Given the description of an element on the screen output the (x, y) to click on. 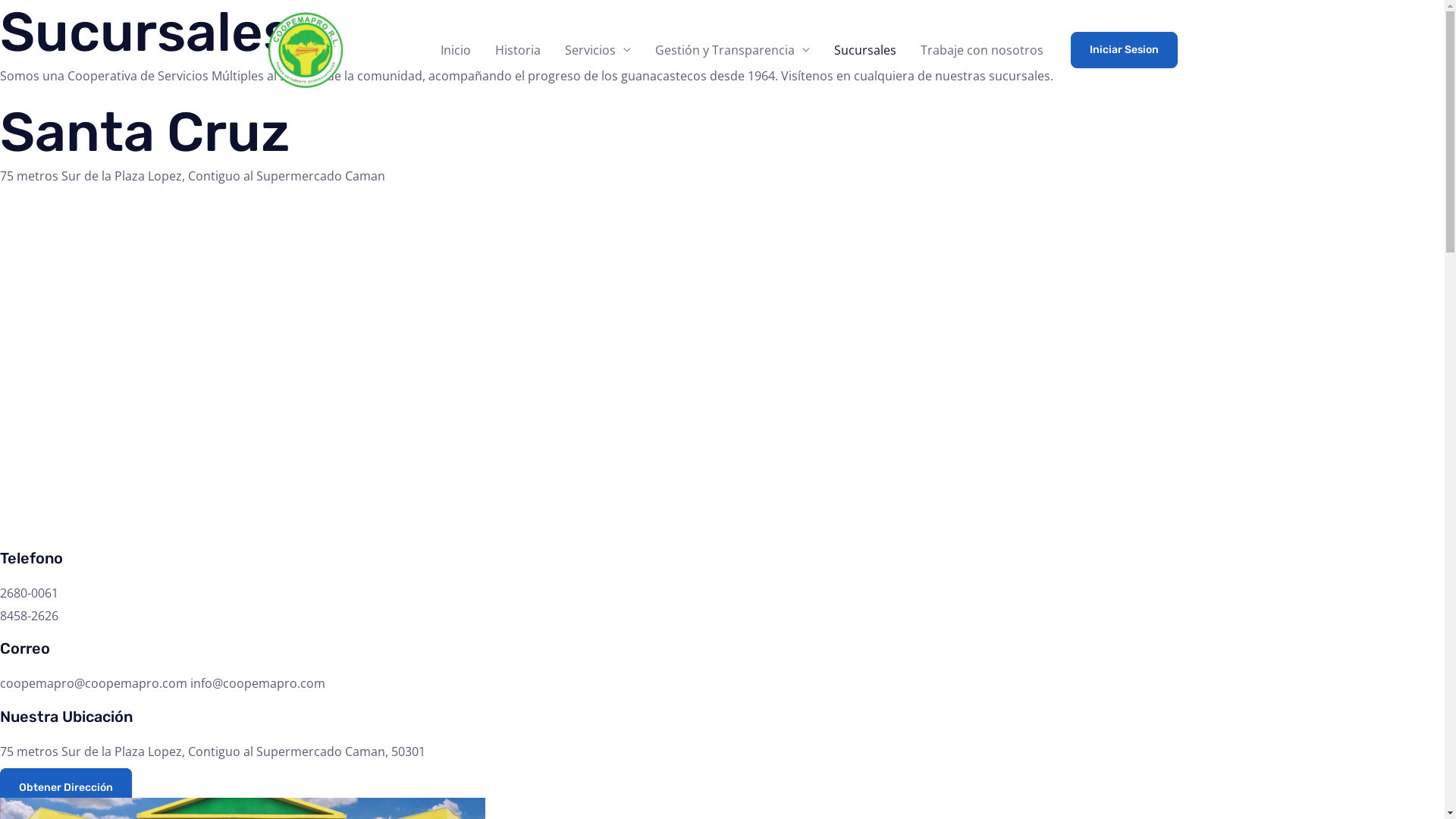
Sucursales Element type: text (865, 49)
Iniciar Sesion Element type: text (1123, 49)
Inicio Element type: text (454, 49)
Trabaje con nosotros Element type: text (981, 49)
Historia Element type: text (517, 49)
Servicios Element type: text (597, 49)
